Given the description of an element on the screen output the (x, y) to click on. 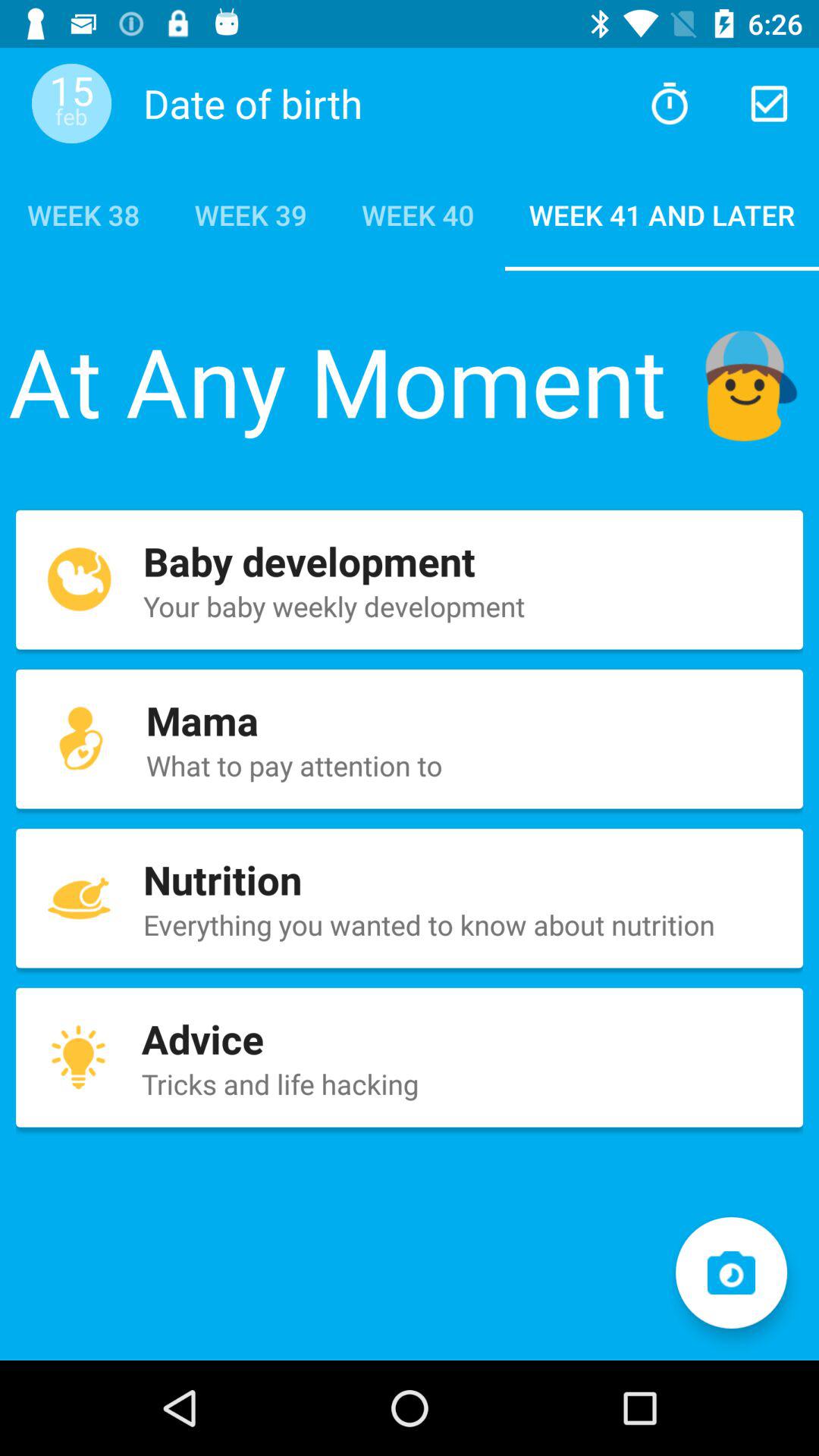
toggle screenshot option (731, 1272)
